Given the description of an element on the screen output the (x, y) to click on. 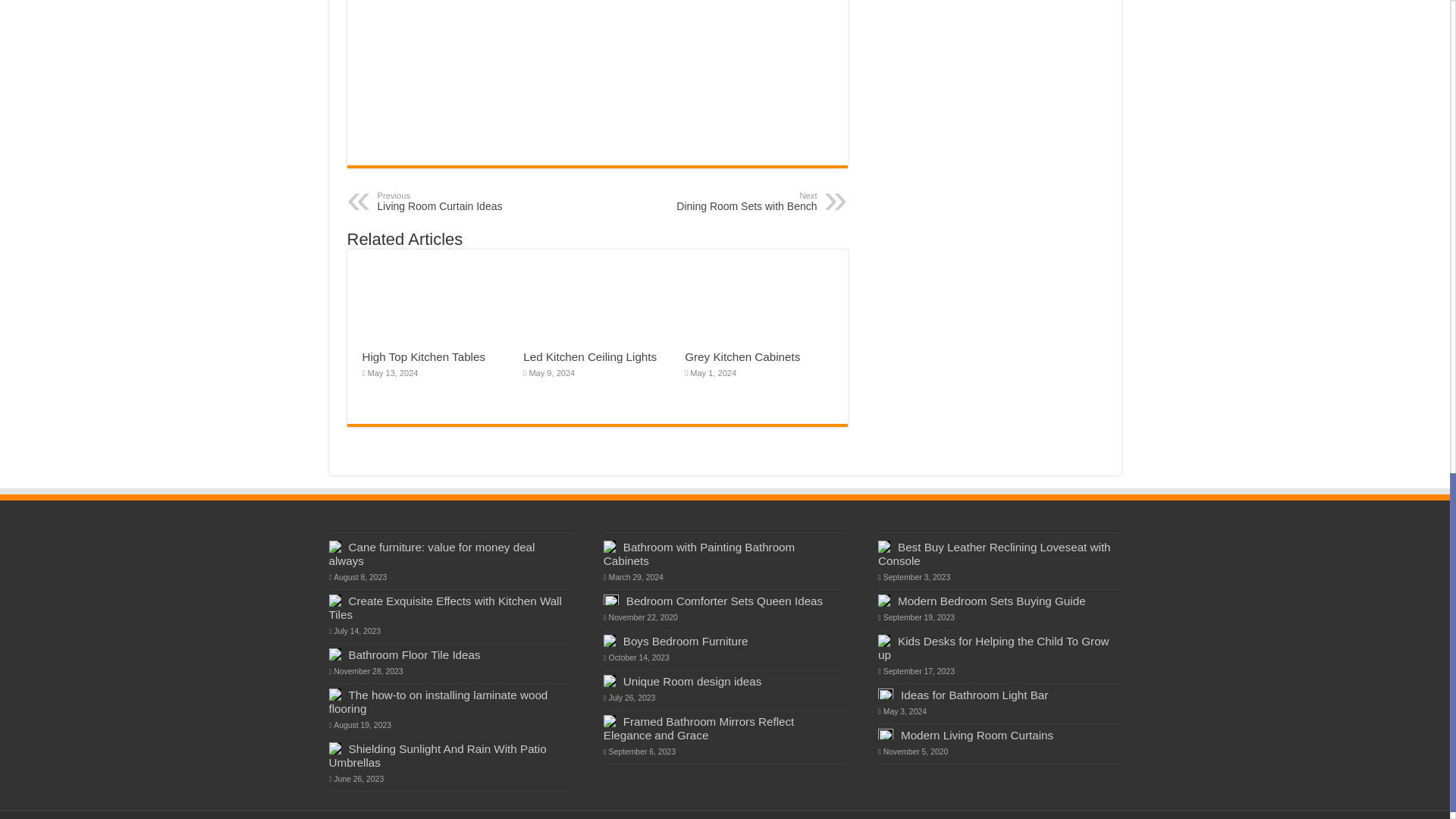
High Top Kitchen Tables (424, 356)
